Given the description of an element on the screen output the (x, y) to click on. 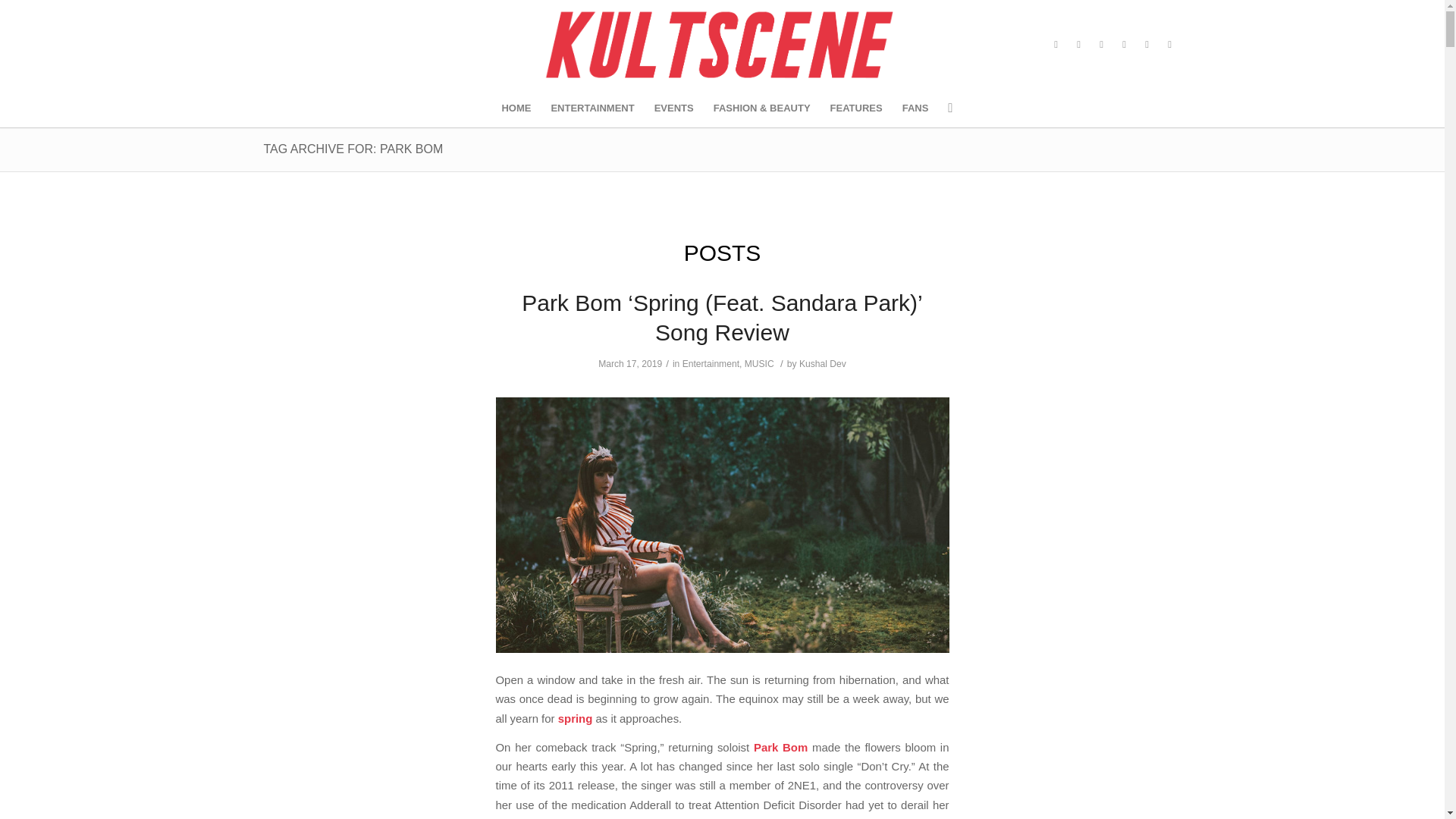
Facebook (1056, 44)
Youtube (1124, 44)
EVENTS (674, 108)
HOME (516, 108)
Tumblr (1101, 44)
Twitter (1078, 44)
FEATURES (856, 108)
FANS (915, 108)
Permanent Link: Tag Archive for: park bom (353, 148)
Mail (1146, 44)
